Given the description of an element on the screen output the (x, y) to click on. 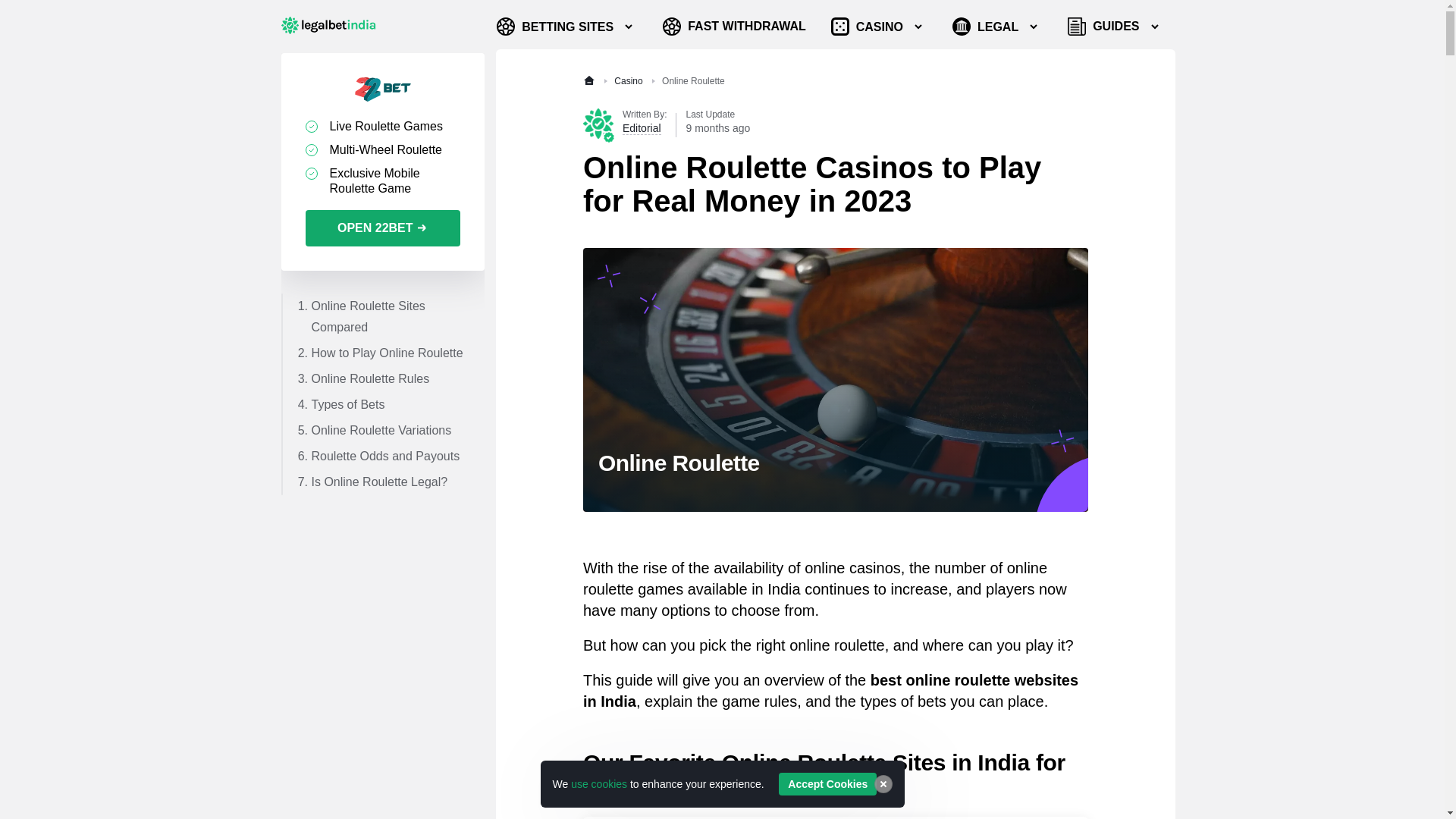
BETTING SITES (566, 26)
